Given the description of an element on the screen output the (x, y) to click on. 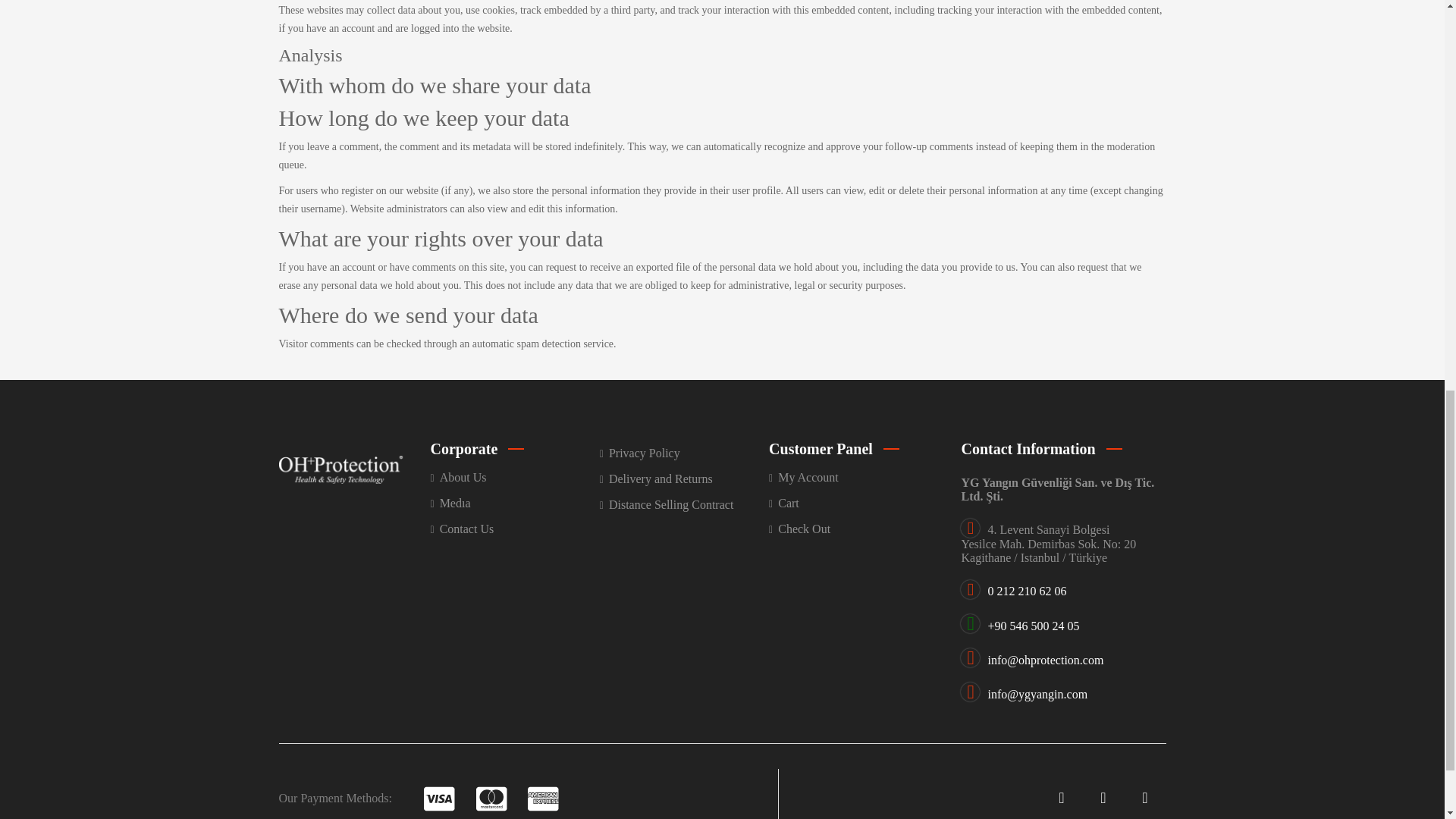
My Account (852, 477)
Delivery and Returns (683, 479)
Contact Us (514, 529)
Privacy Policy (683, 453)
0 212 210 62 06 (1026, 590)
Distance Selling Contract (683, 504)
Cart (852, 503)
Face Book (1060, 797)
Check Out (852, 529)
Instagram (1143, 797)
